Given the description of an element on the screen output the (x, y) to click on. 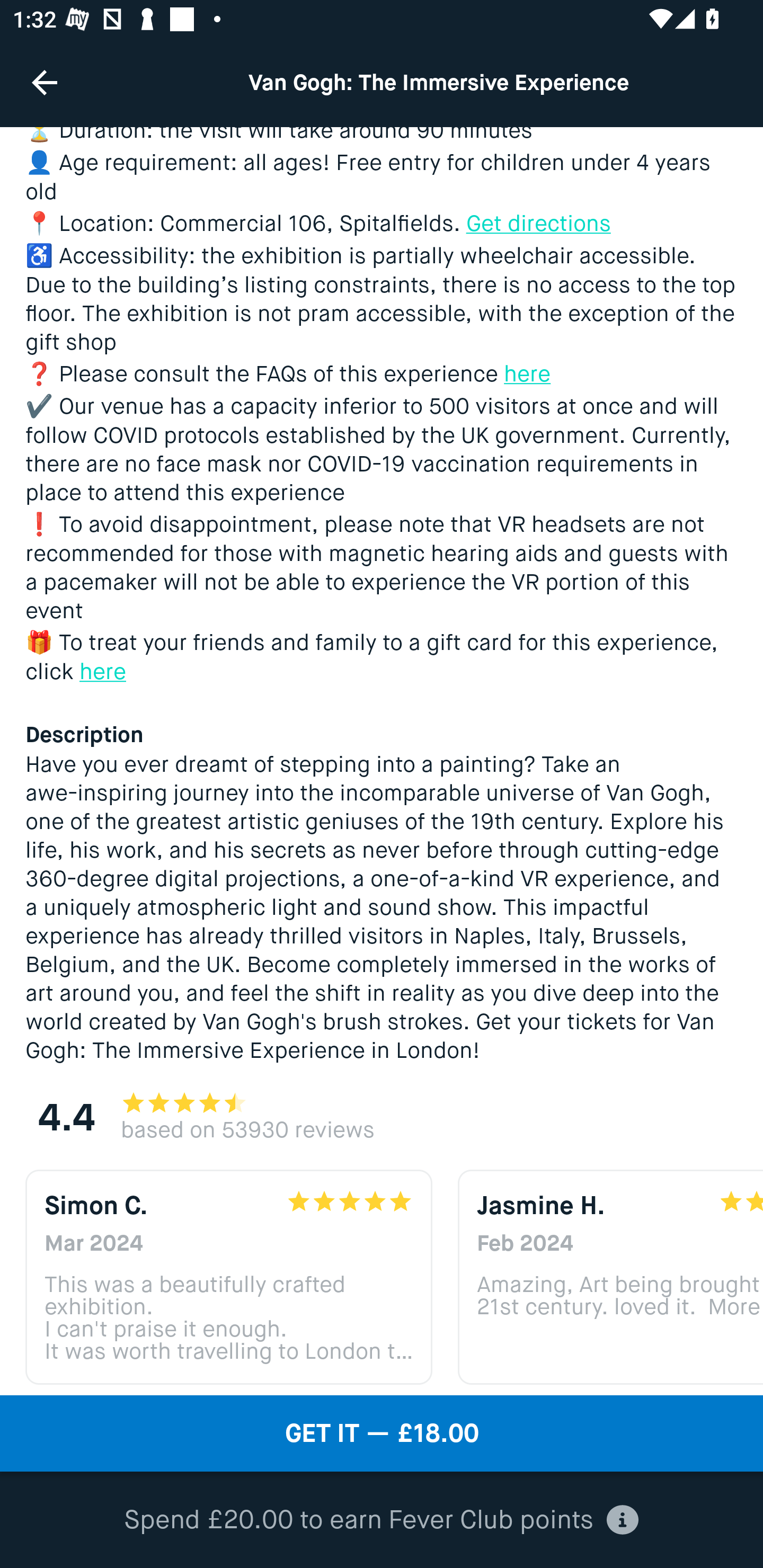
Navigate up (44, 82)
GET IT — £18.00 (381, 1433)
Spend £20.00 to earn Fever Club points (381, 1519)
